Given the description of an element on the screen output the (x, y) to click on. 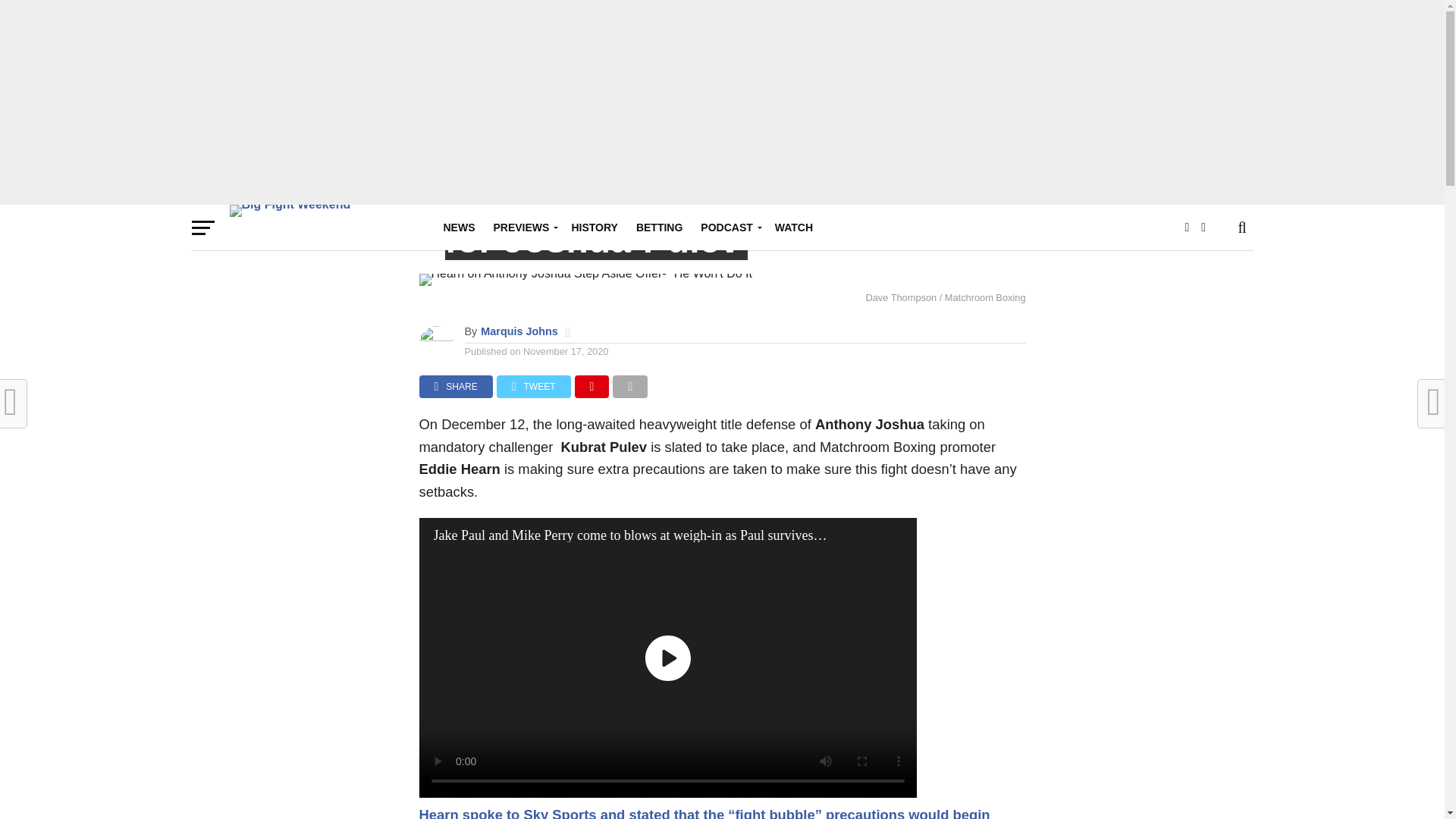
BETTING (659, 227)
PREVIEWS (522, 227)
NEWS (458, 227)
HISTORY (594, 227)
WATCH (793, 227)
PODCAST (728, 227)
Posts by Marquis Johns (518, 331)
Marquis Johns (518, 331)
